Given the description of an element on the screen output the (x, y) to click on. 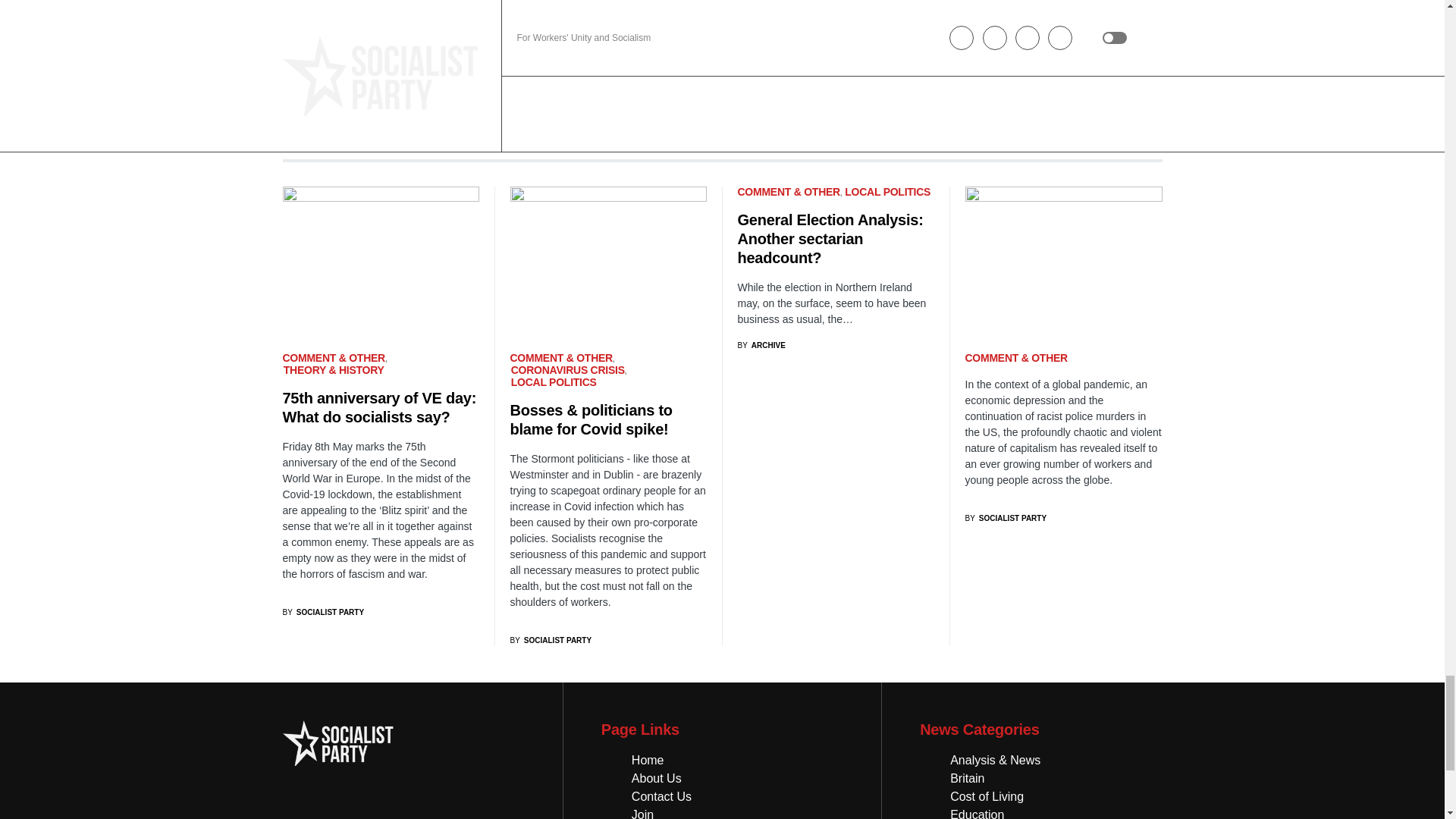
View all posts by Socialist Party (1004, 518)
View all posts by Socialist Party (619, 66)
View all posts by Archive (760, 345)
View all posts by Socialist Party (900, 85)
View all posts by Socialist Party (550, 640)
View all posts by Socialist Party (323, 612)
